Given the description of an element on the screen output the (x, y) to click on. 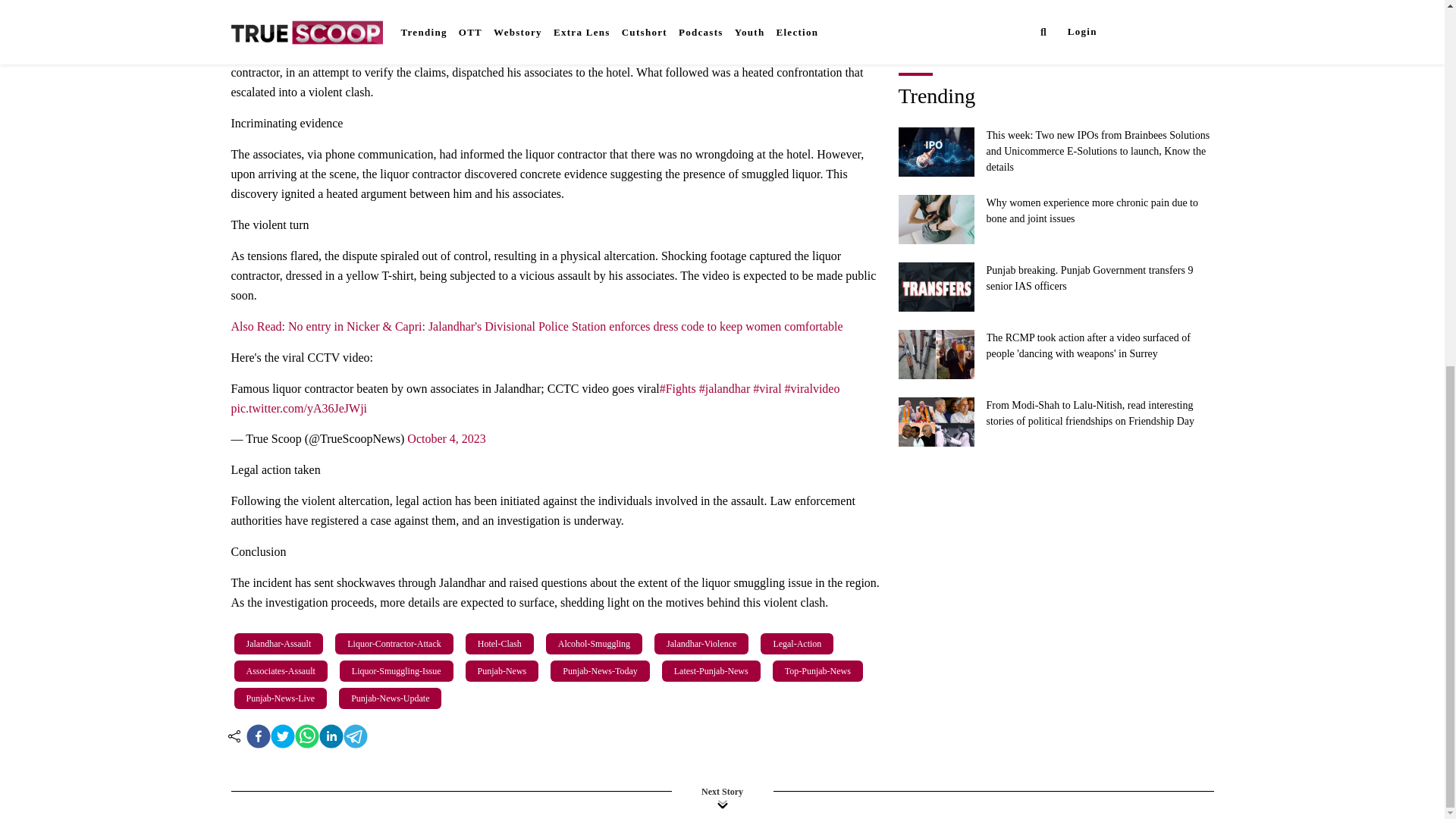
Hotel-Clash (500, 643)
Punjab-News-Live (280, 697)
October 4, 2023 (446, 438)
Alcohol-Smuggling (594, 643)
Jalandhar-Assault (277, 643)
Alcohol-Smuggling (594, 643)
Hotel-Clash (499, 643)
Legal-Action (796, 643)
Associates-Assault (279, 670)
Jalandhar-Violence (700, 643)
Punjab-News-Update (390, 697)
Legal-Action (796, 643)
Latest-Punjab-News (710, 670)
Top-Punjab-News (818, 670)
Jalandhar-Violence (700, 643)
